Given the description of an element on the screen output the (x, y) to click on. 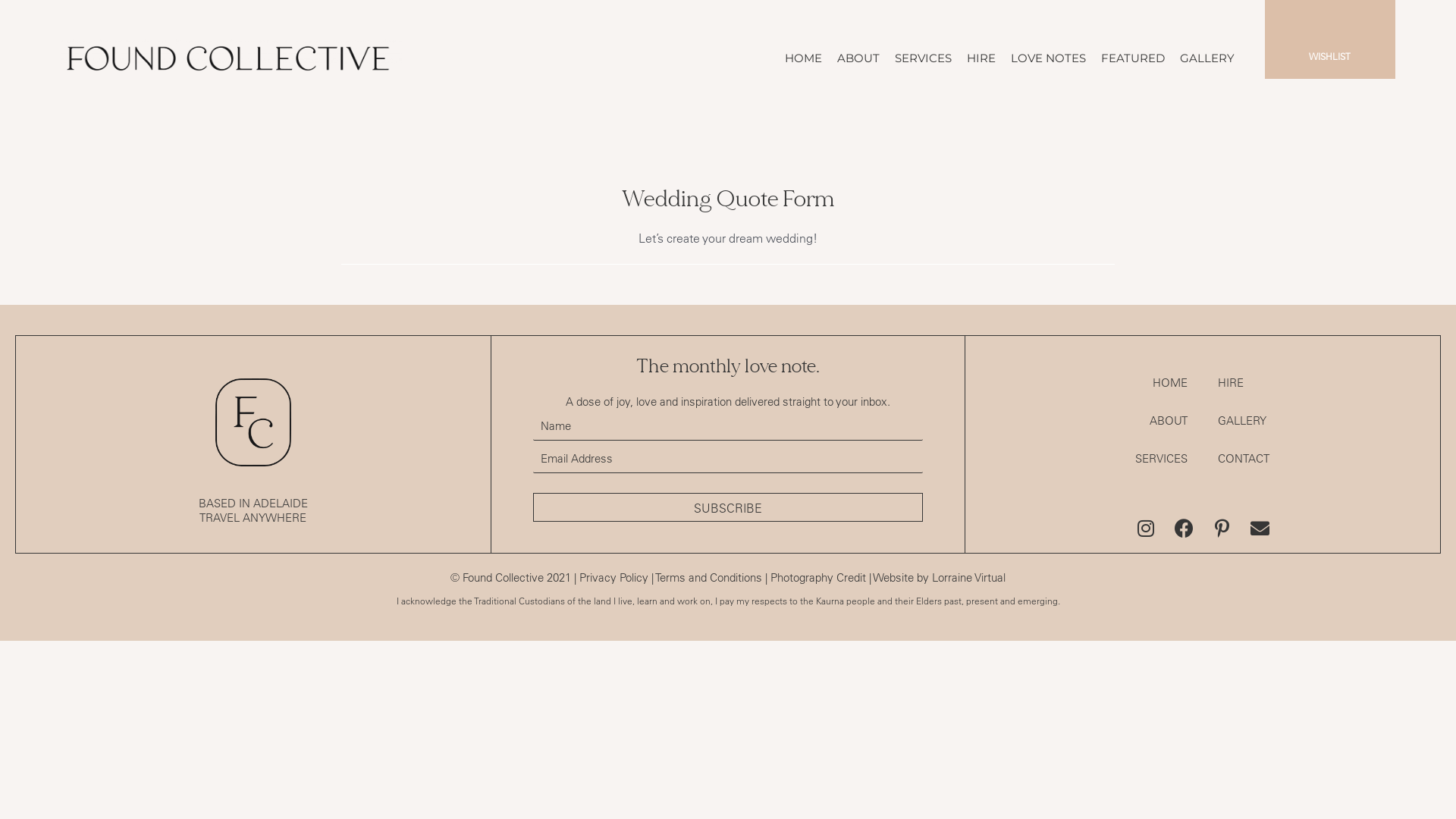
The monthly love note. Element type: text (727, 366)
FEATURED Element type: text (1132, 58)
SERVICES Element type: text (1161, 458)
ABOUT Element type: text (1168, 420)
CONTACT Element type: text (1243, 458)
Privacy Policy Element type: text (613, 577)
GALLERY Element type: text (1241, 420)
WISHLIST Element type: text (1329, 56)
Lorraine Virtual Element type: text (968, 577)
LOVE NOTES Element type: text (1048, 58)
SUBSCRIBE Element type: text (728, 506)
HIRE Element type: text (981, 58)
GALLERY Element type: text (1207, 58)
found-collective-primary-logo Element type: hover (230, 57)
SERVICES Element type: text (923, 58)
Facebook Element type: hover (1183, 527)
Photography Credit Element type: text (818, 577)
found-collective-supporting-logo-black Element type: hover (253, 422)
HOME Element type: text (803, 58)
Email Element type: hover (1259, 527)
HOME Element type: text (1169, 382)
Instagram Element type: hover (1145, 527)
Terms and Conditions Element type: text (708, 577)
HIRE Element type: text (1230, 382)
ABOUT Element type: text (858, 58)
Pinterest Element type: hover (1221, 527)
